Given the description of an element on the screen output the (x, y) to click on. 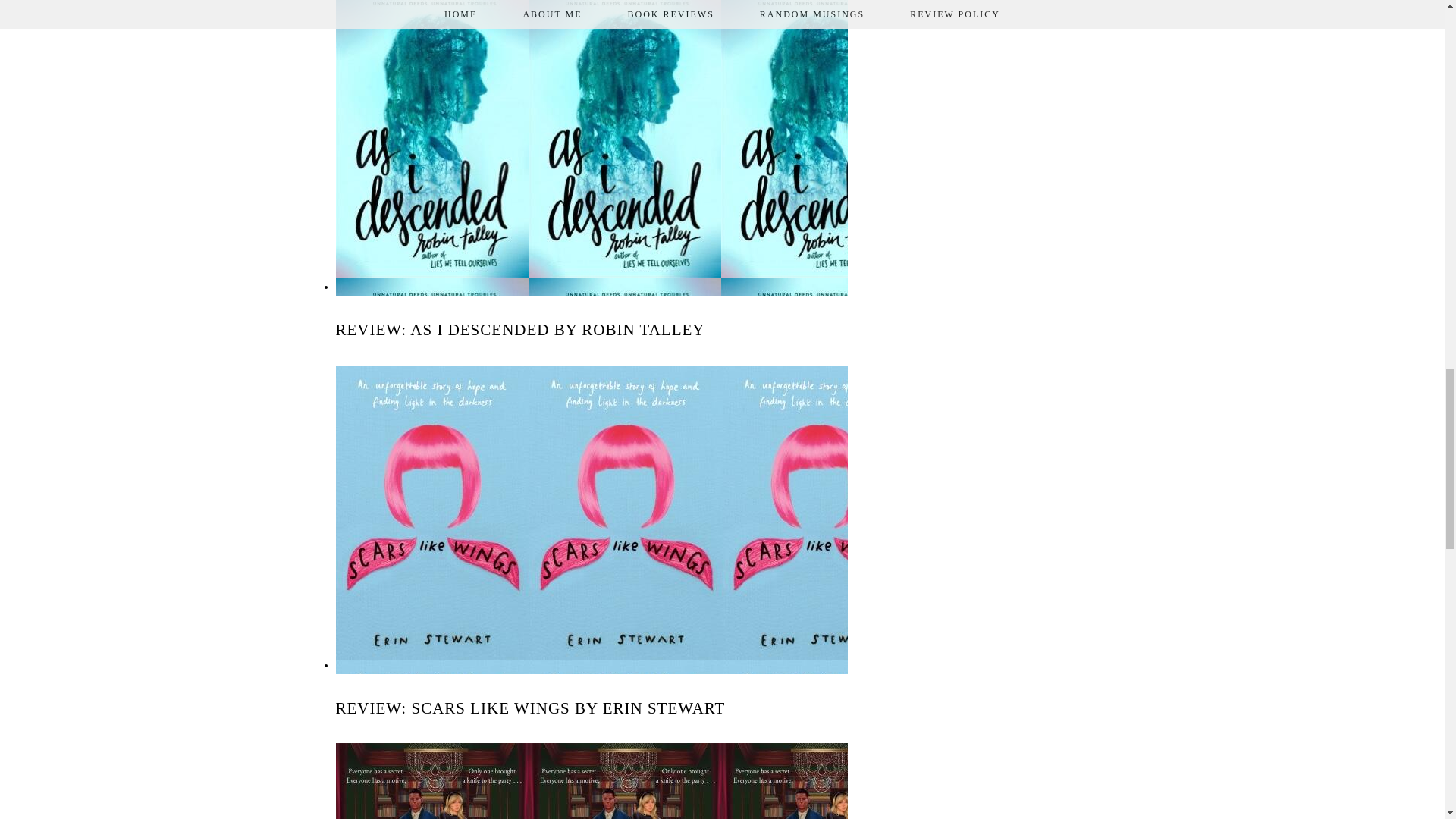
Review: As I Descended by Robin Talley (519, 330)
Review: Scars Like Wings by Erin Stewart (529, 708)
REVIEW: SCARS LIKE WINGS BY ERIN STEWART (529, 708)
Review: Scars Like Wings by Erin Stewart (562, 665)
Review: As I Descended by Robin Talley (562, 286)
REVIEW: AS I DESCENDED BY ROBIN TALLEY (519, 330)
